Given the description of an element on the screen output the (x, y) to click on. 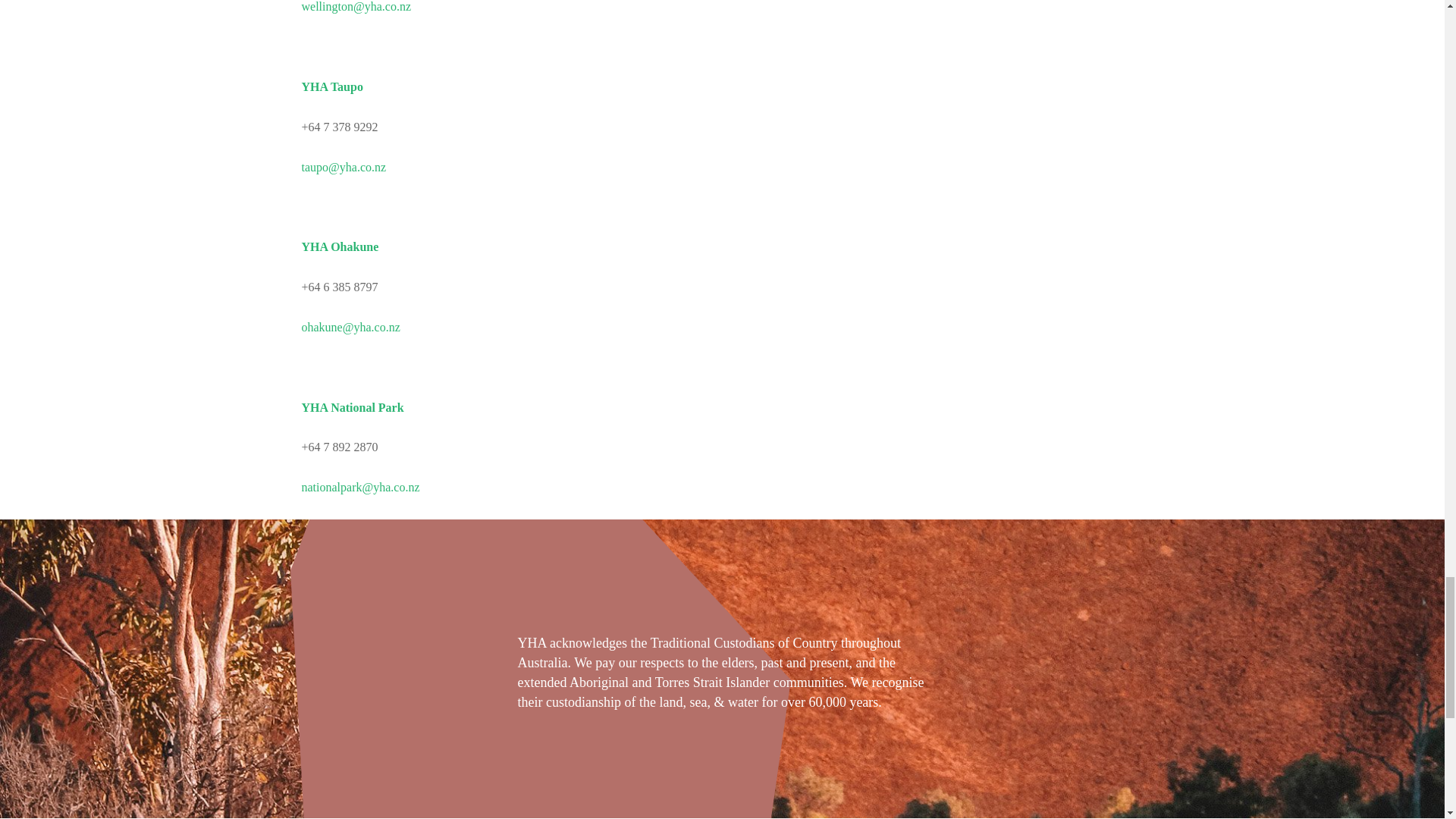
YHA Taupo (331, 86)
YHA Ohakune (339, 246)
YHA National Park (352, 407)
